Given the description of an element on the screen output the (x, y) to click on. 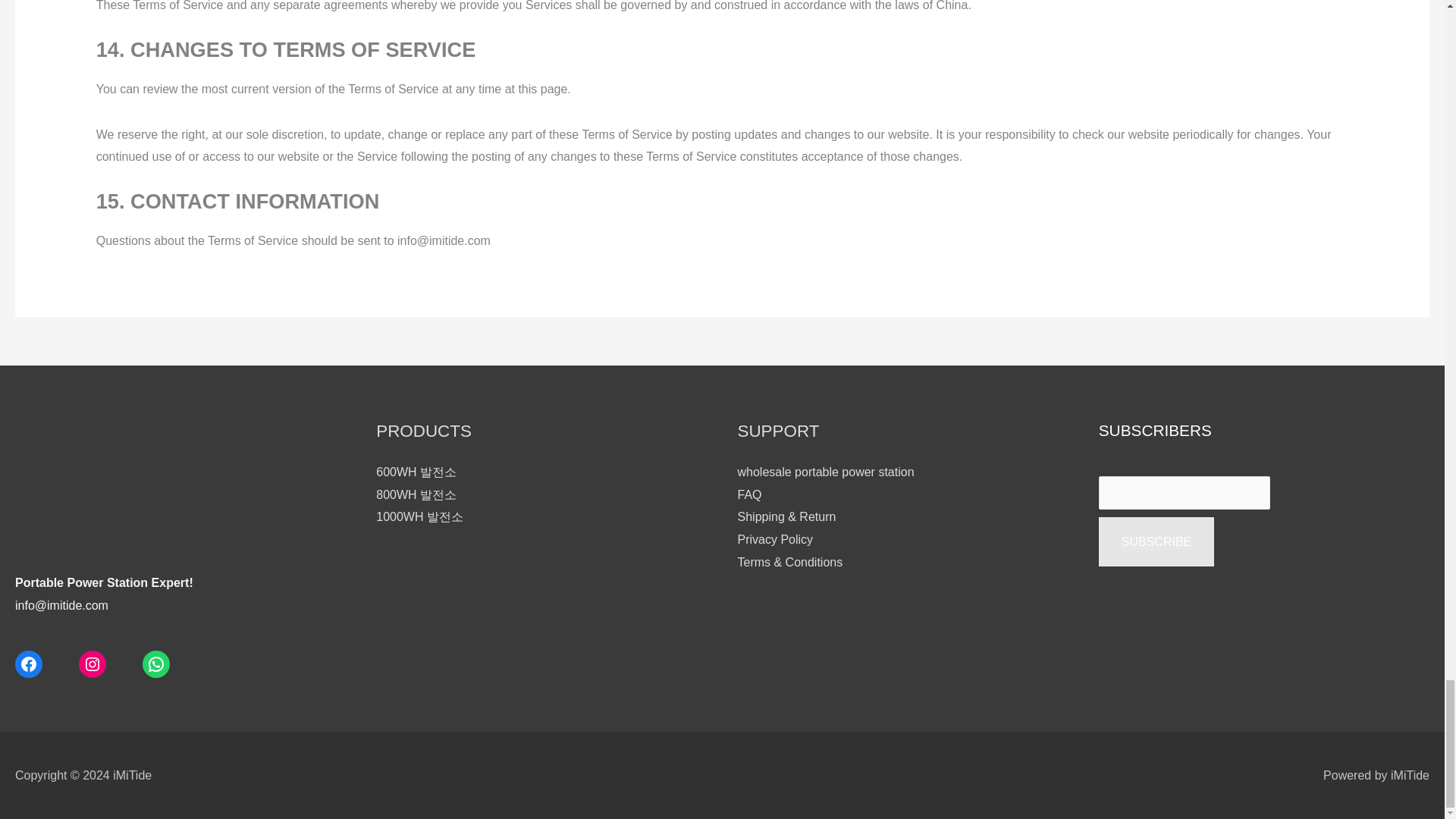
WhatsApp (156, 664)
Subscribe (1156, 541)
FAQ (748, 494)
Privacy Policy (774, 539)
Subscribe (1156, 541)
Instagram (92, 664)
Facebook (28, 664)
wholesale portable power station (825, 472)
